Given the description of an element on the screen output the (x, y) to click on. 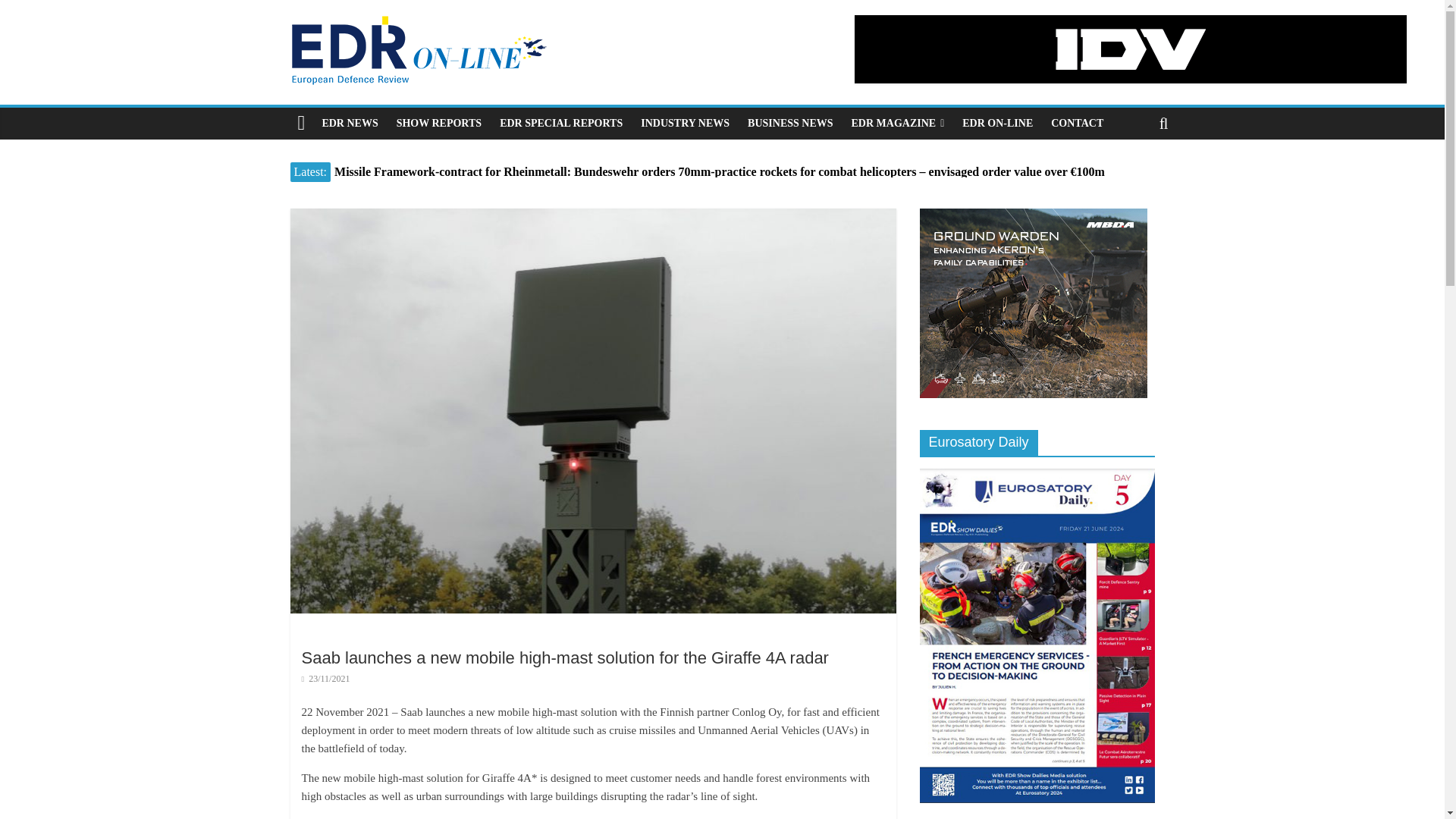
BUSINESS NEWS (789, 123)
Industry Press (684, 123)
EDR NEWS (350, 123)
INDUSTRY NEWS (684, 123)
CONTACT (1077, 123)
EDR SPECIAL REPORTS (560, 123)
EDR ON-LINE (997, 123)
SHOW REPORTS (438, 123)
EDR News (350, 123)
12:27 (325, 678)
EDR MAGAZINE (898, 123)
